Given the description of an element on the screen output the (x, y) to click on. 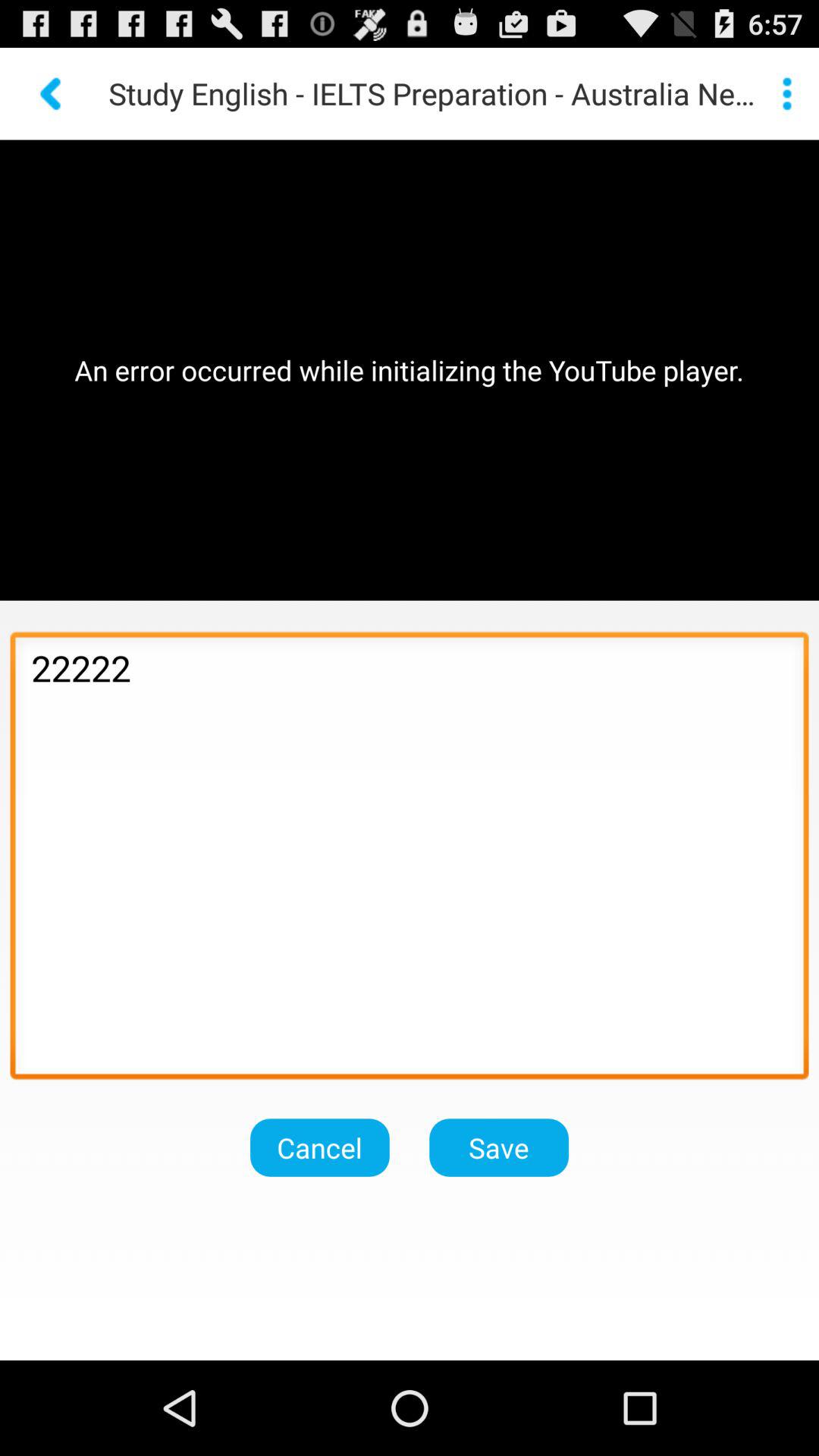
get more info (787, 93)
